Given the description of an element on the screen output the (x, y) to click on. 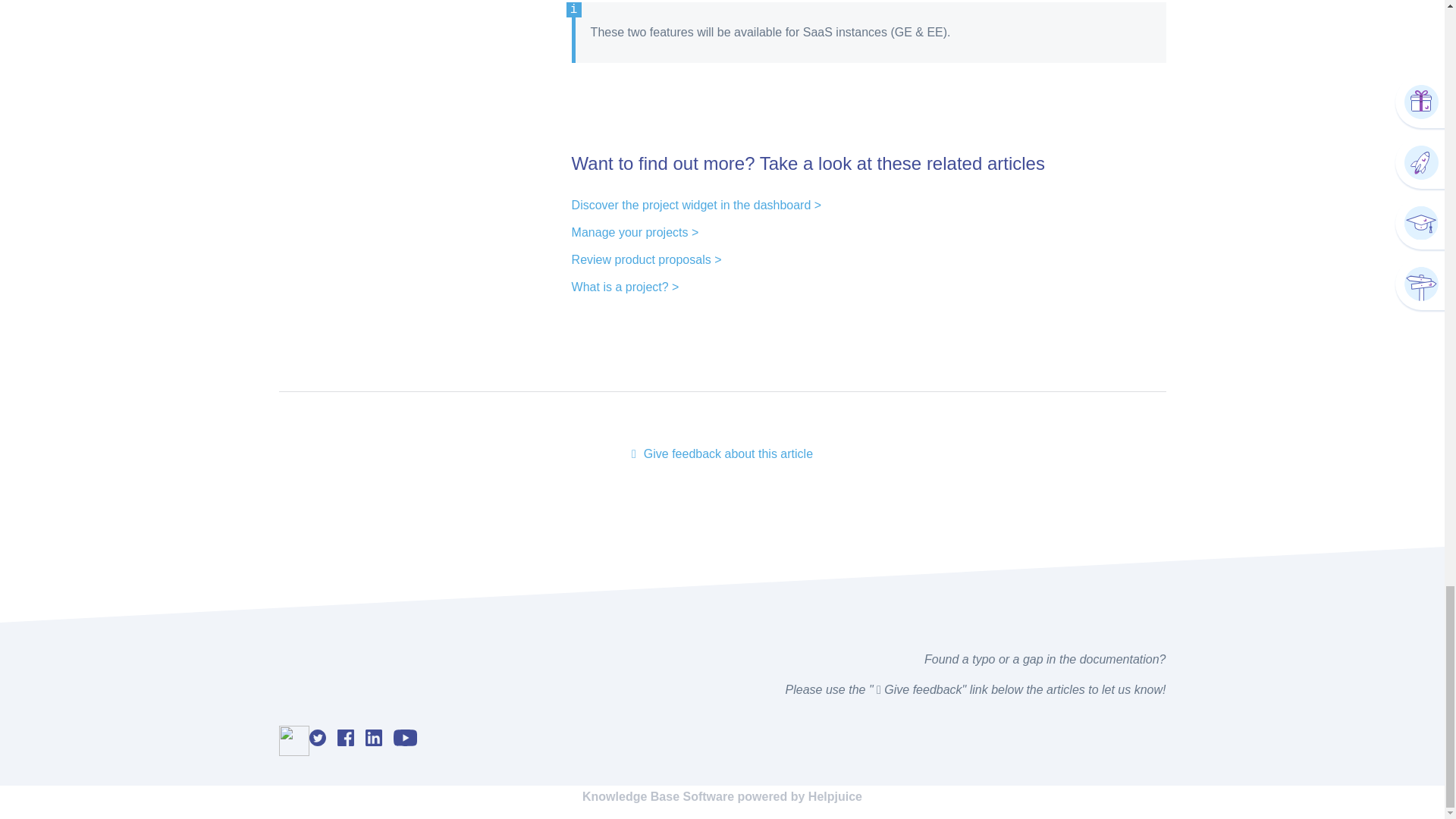
Knowledge Base Software powered by Helpjuice (721, 796)
Give feedback about this article (721, 454)
